Given the description of an element on the screen output the (x, y) to click on. 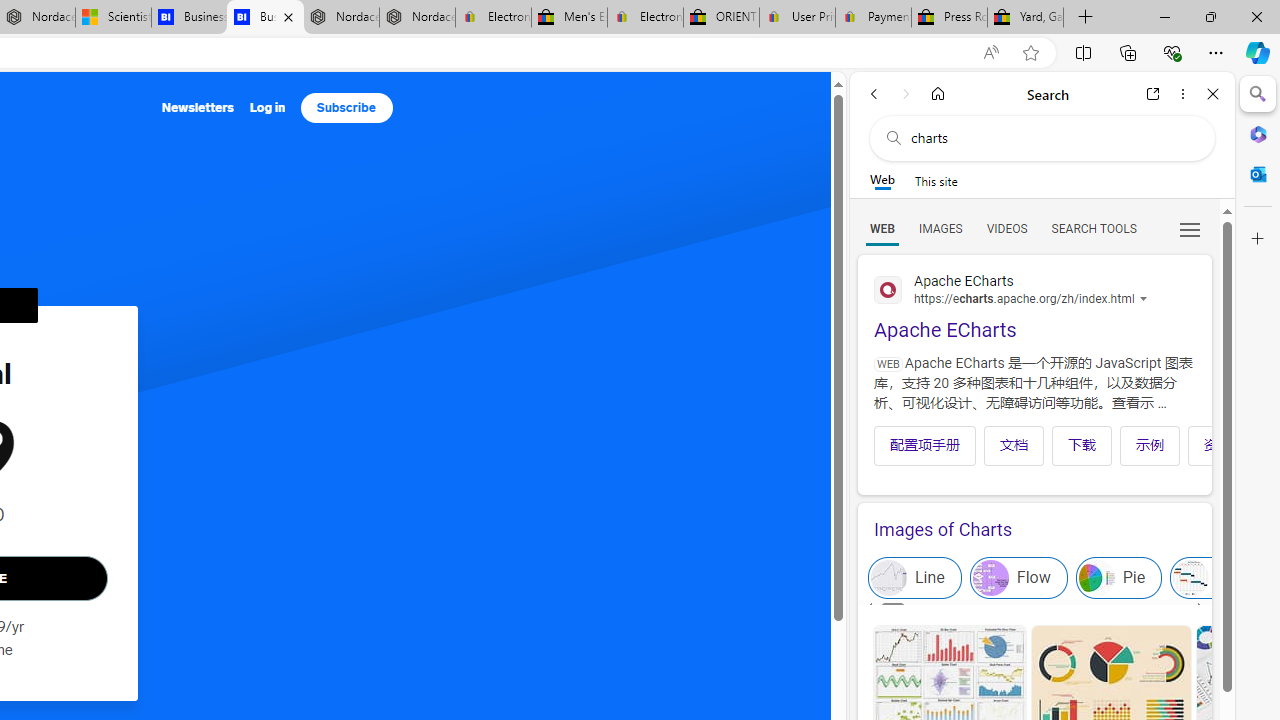
Electronics, Cars, Fashion, Collectibles & More | eBay (645, 17)
Minimize Search pane (1258, 94)
Preferences (1189, 228)
Yard, Garden & Outdoor Living (1025, 17)
Nordace - Summer Adventures 2024 (340, 17)
Subscribe (345, 107)
Pie (1119, 578)
